Given the description of an element on the screen output the (x, y) to click on. 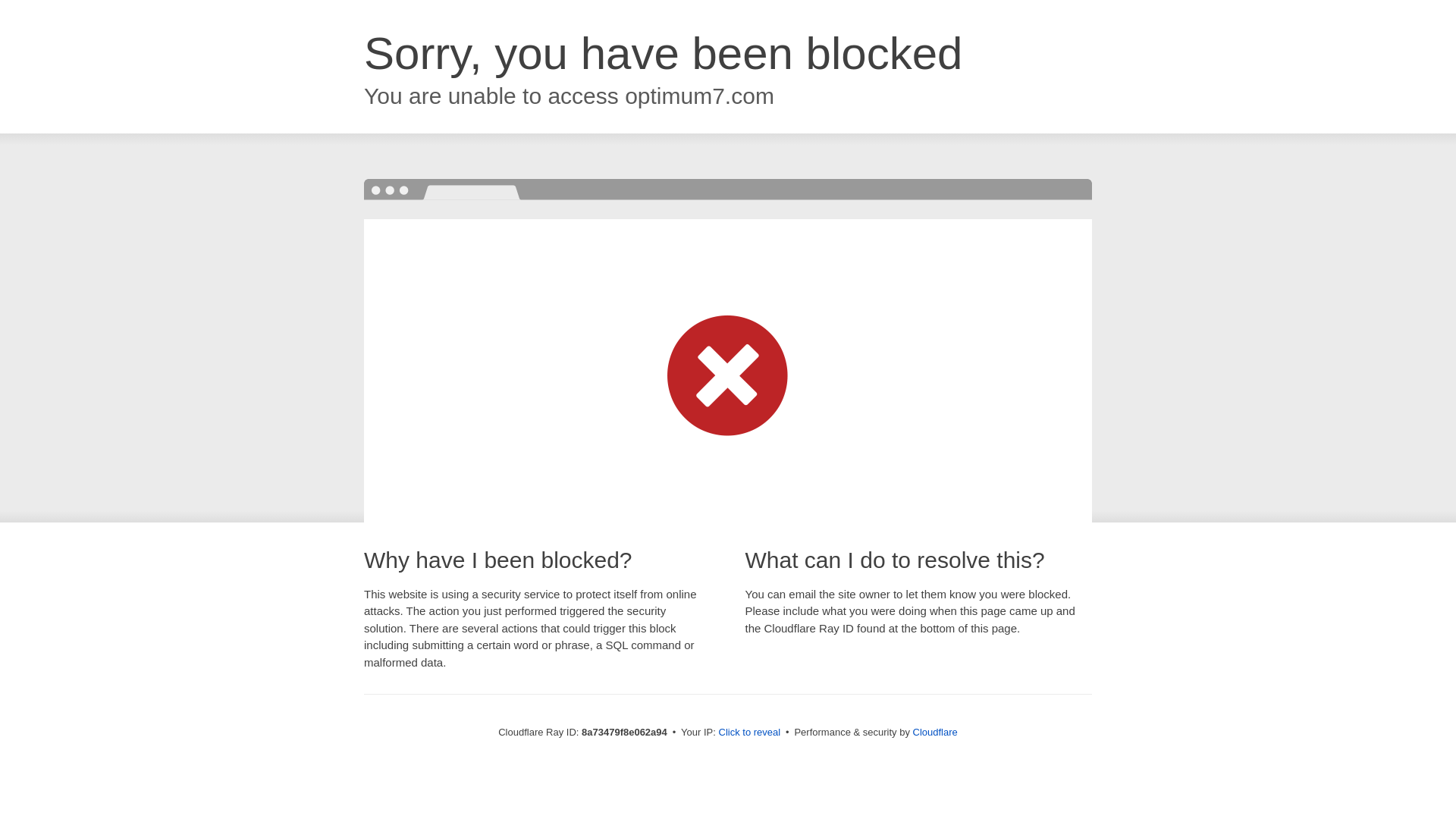
Cloudflare (935, 731)
Click to reveal (749, 732)
